Given the description of an element on the screen output the (x, y) to click on. 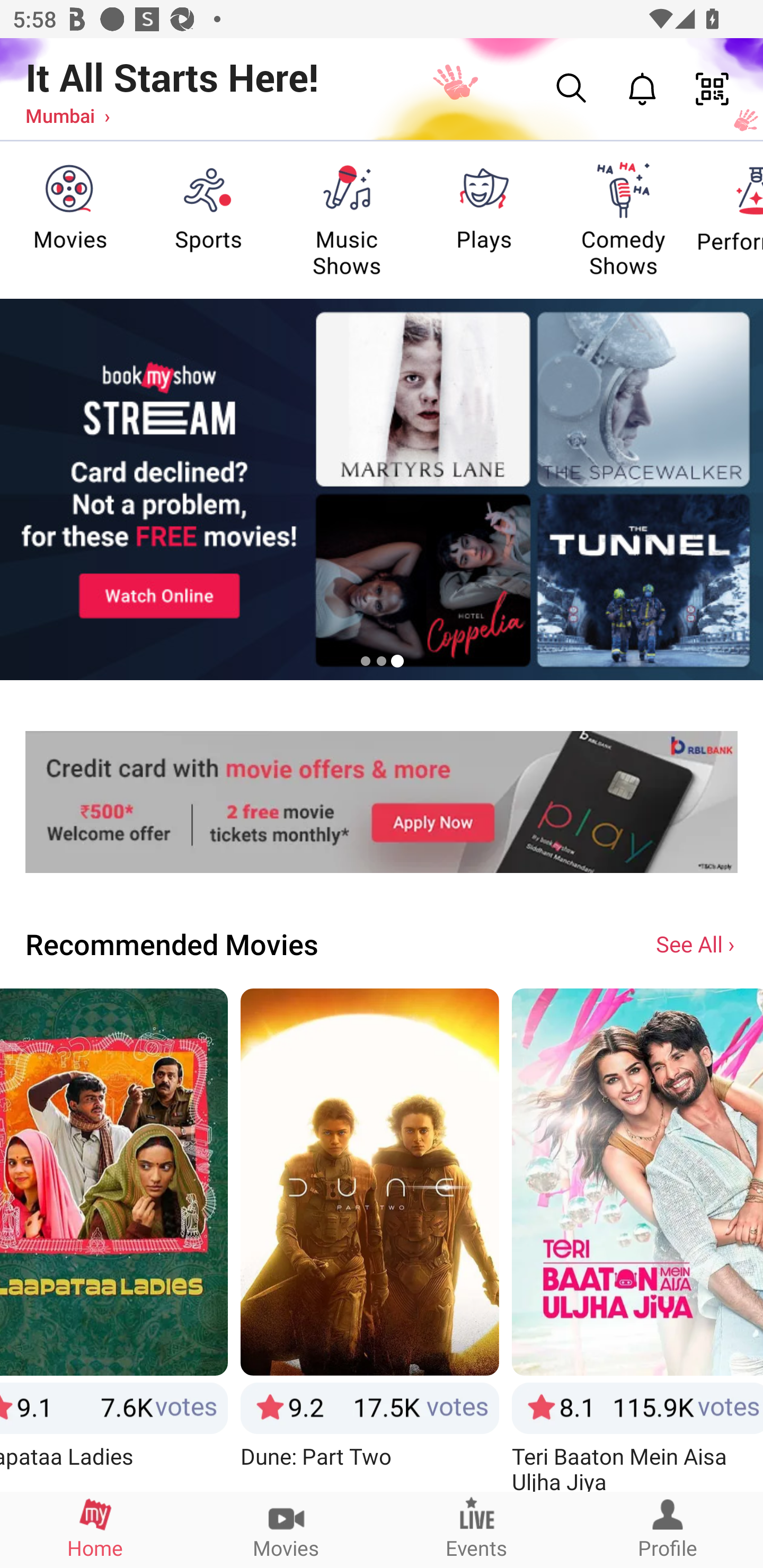
Mumbai  › (67, 114)
See All › (696, 943)
Laapataa Ladies (114, 1239)
Dune: Part Two (369, 1239)
Teri Baaton Mein Aisa Uljha Jiya (637, 1239)
Home (95, 1529)
Movies (285, 1529)
Events (476, 1529)
Profile (667, 1529)
